Given the description of an element on the screen output the (x, y) to click on. 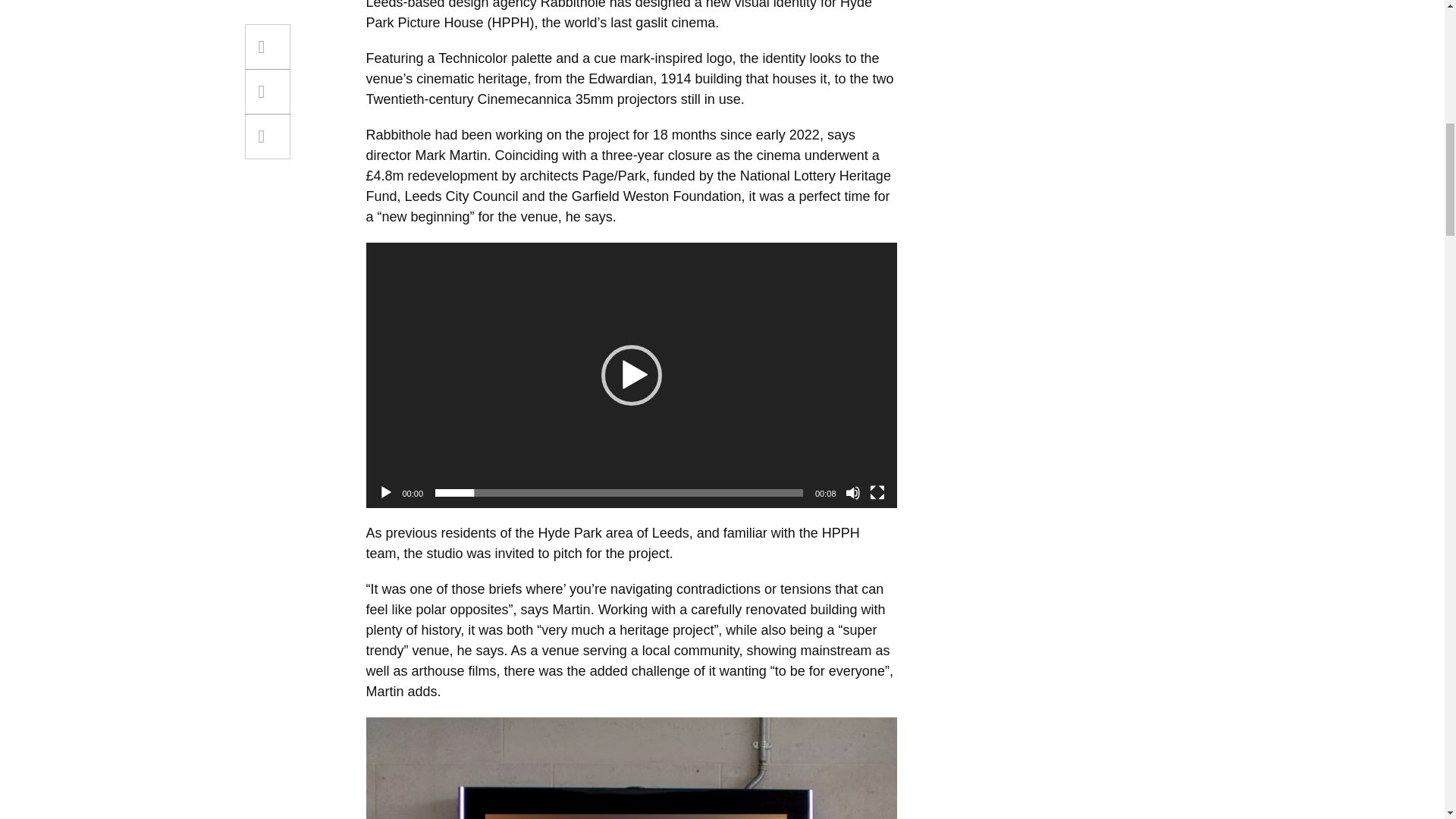
Play (385, 492)
Mute (852, 492)
Fullscreen (876, 492)
